Given the description of an element on the screen output the (x, y) to click on. 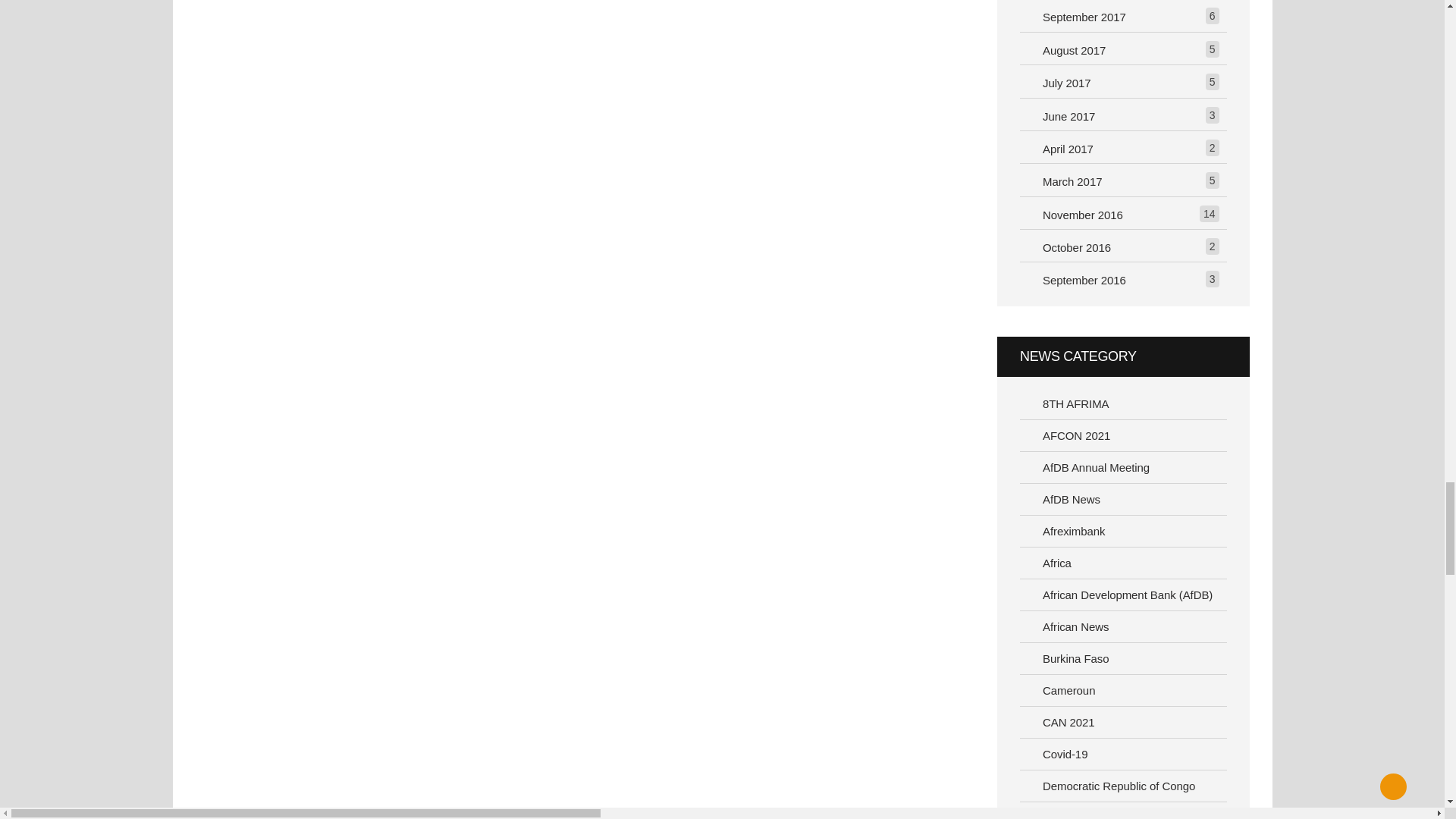
Africa-Newsroom press releases (1123, 562)
